Given the description of an element on the screen output the (x, y) to click on. 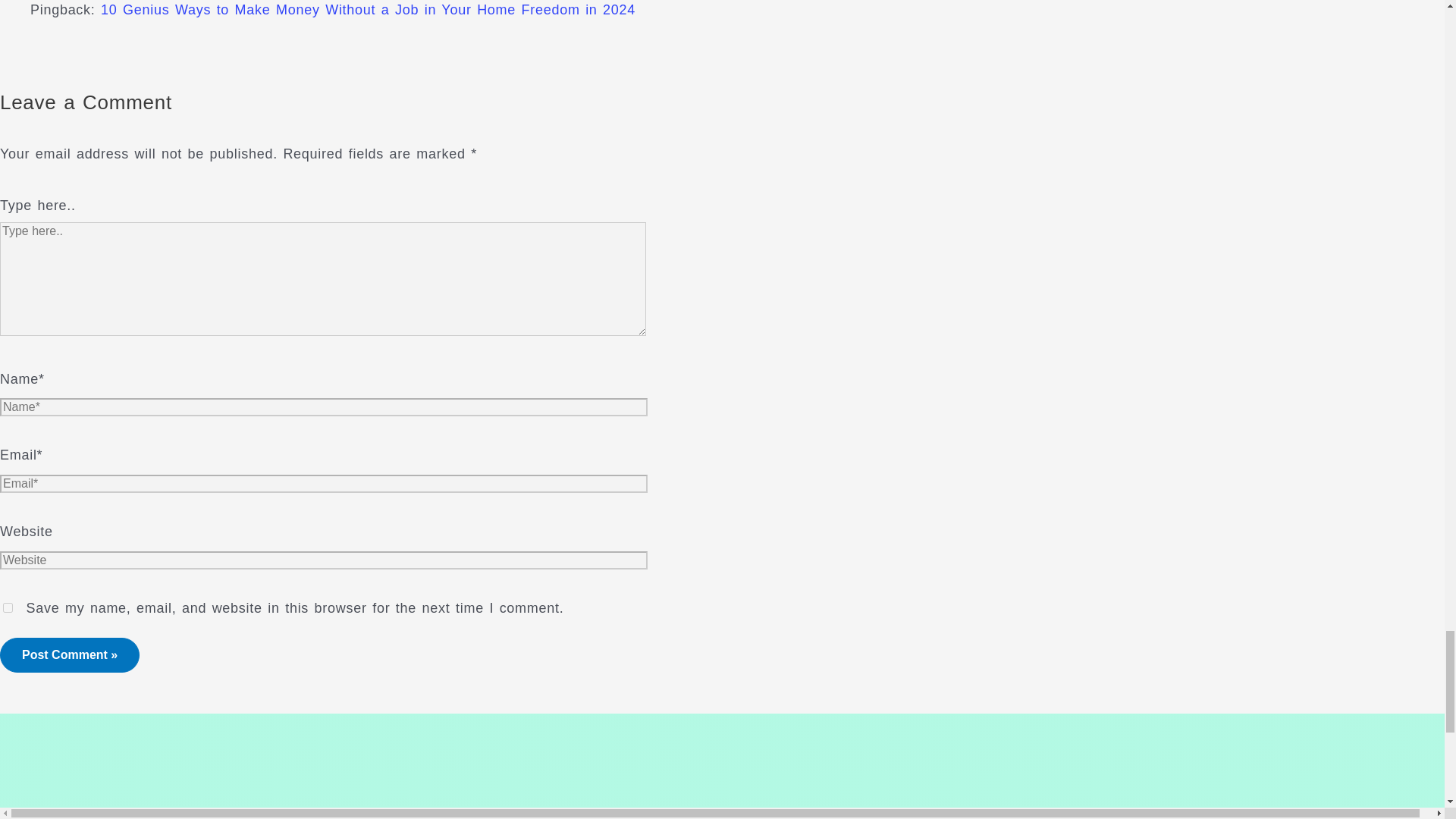
yes (7, 607)
